Given the description of an element on the screen output the (x, y) to click on. 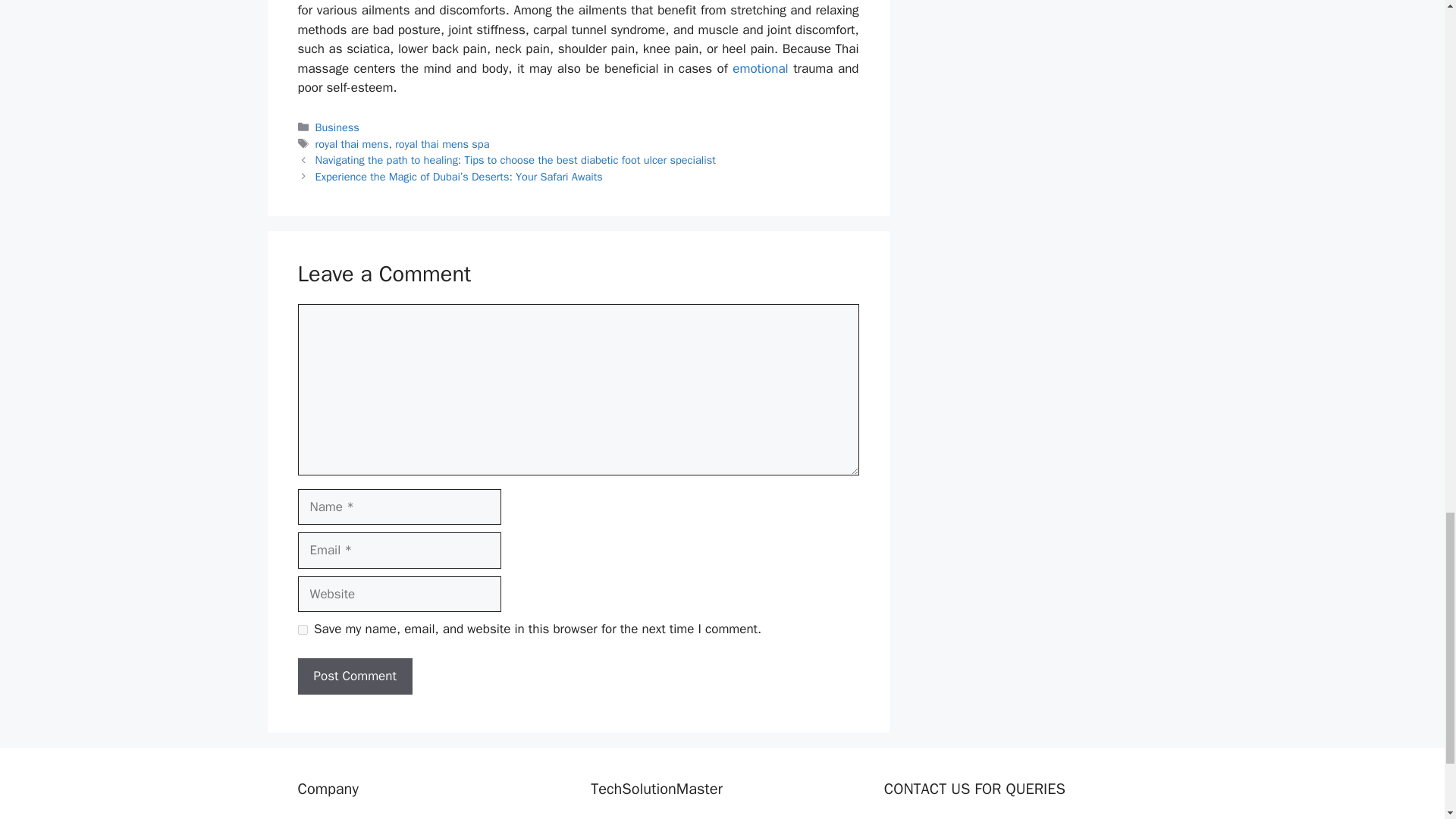
yes (302, 629)
royal thai mens (351, 143)
Post Comment (354, 676)
royal thai mens spa (441, 143)
Business (337, 127)
Post Comment (354, 676)
emotional (758, 68)
